Given the description of an element on the screen output the (x, y) to click on. 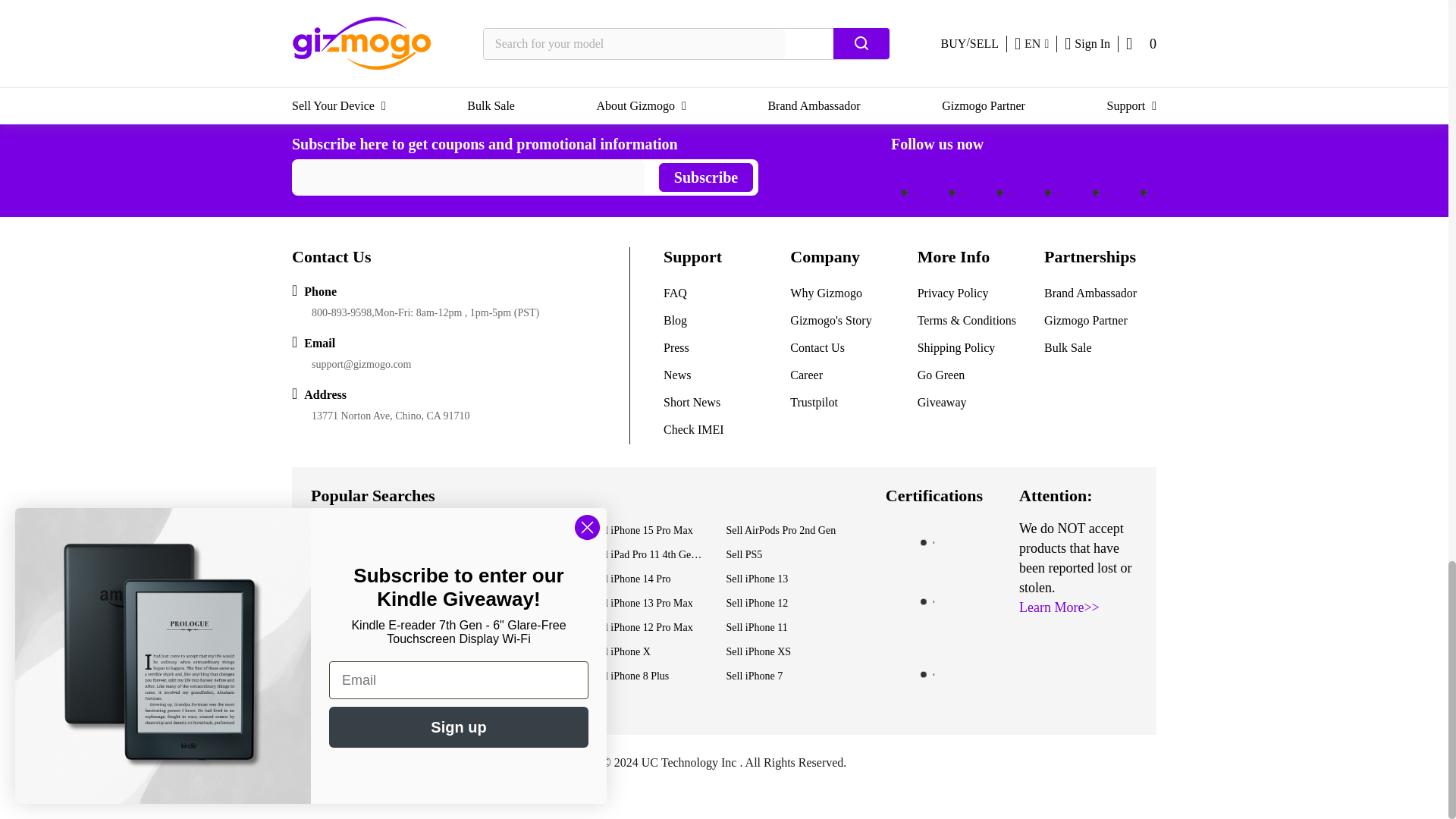
Sell Camera (375, 93)
sell speakers (935, 46)
Discover Their Products Online (810, 73)
Sony (429, 93)
Gizmogo (312, 93)
sell Sony cameras for Quick Cash Appraisal (964, 60)
